Given the description of an element on the screen output the (x, y) to click on. 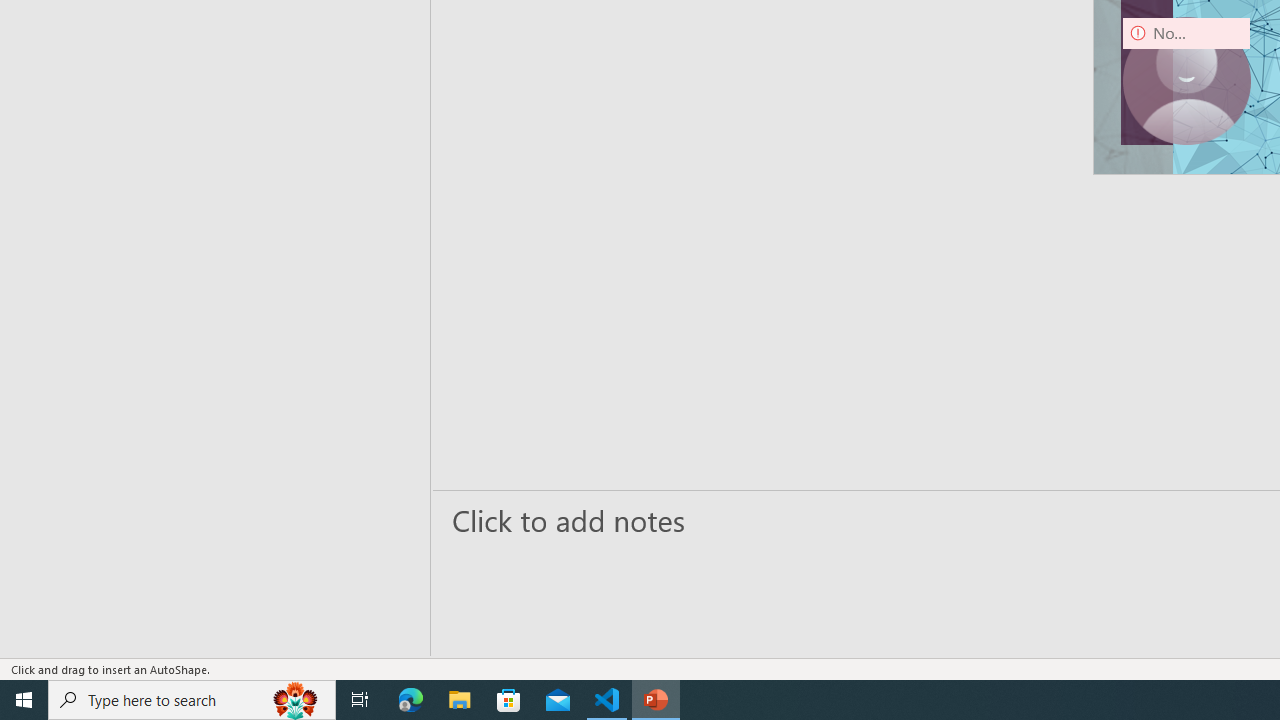
Camera 9, No camera detected. (1186, 80)
